Given the description of an element on the screen output the (x, y) to click on. 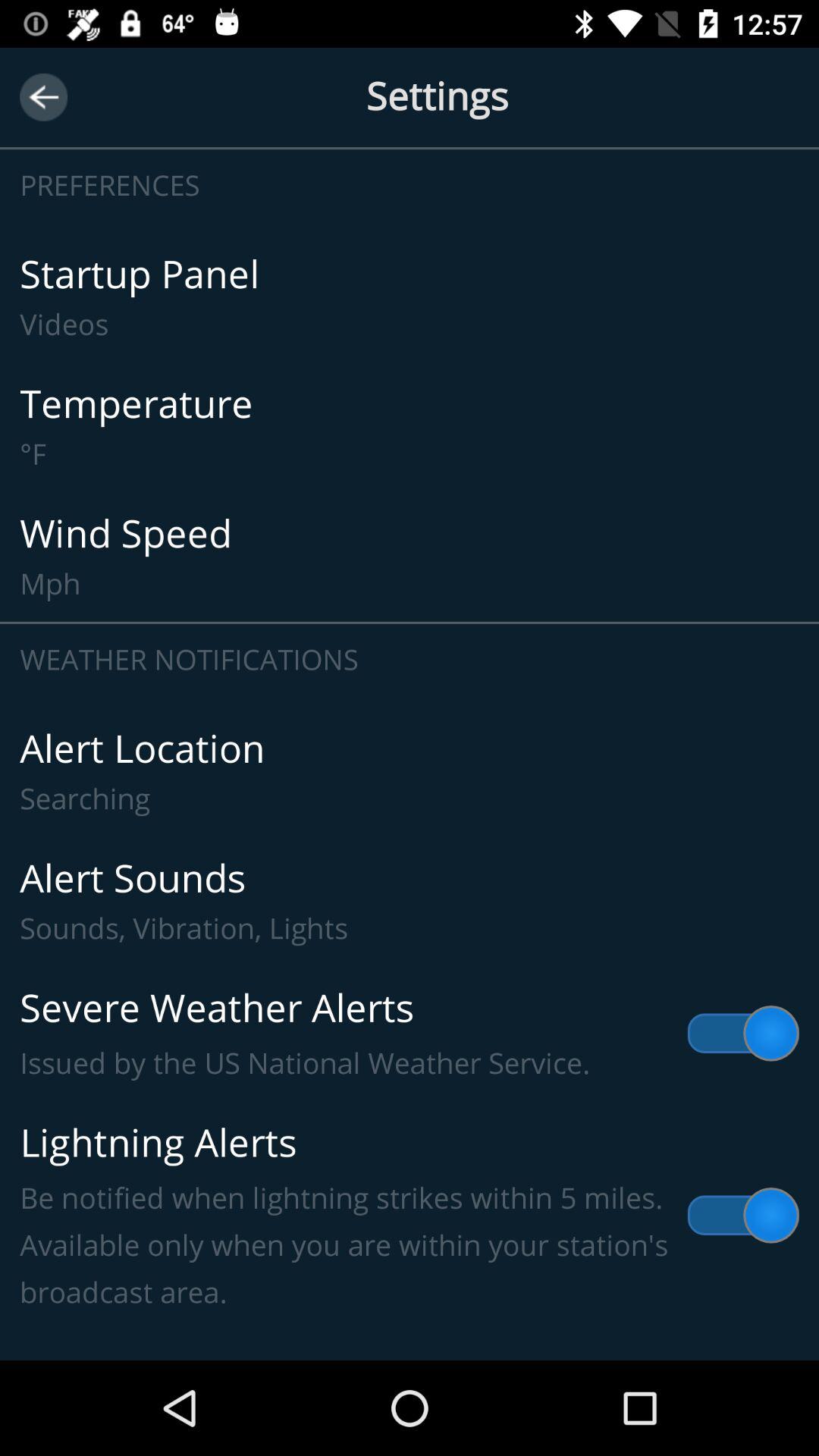
turn on icon above station alerts weather item (409, 1215)
